Given the description of an element on the screen output the (x, y) to click on. 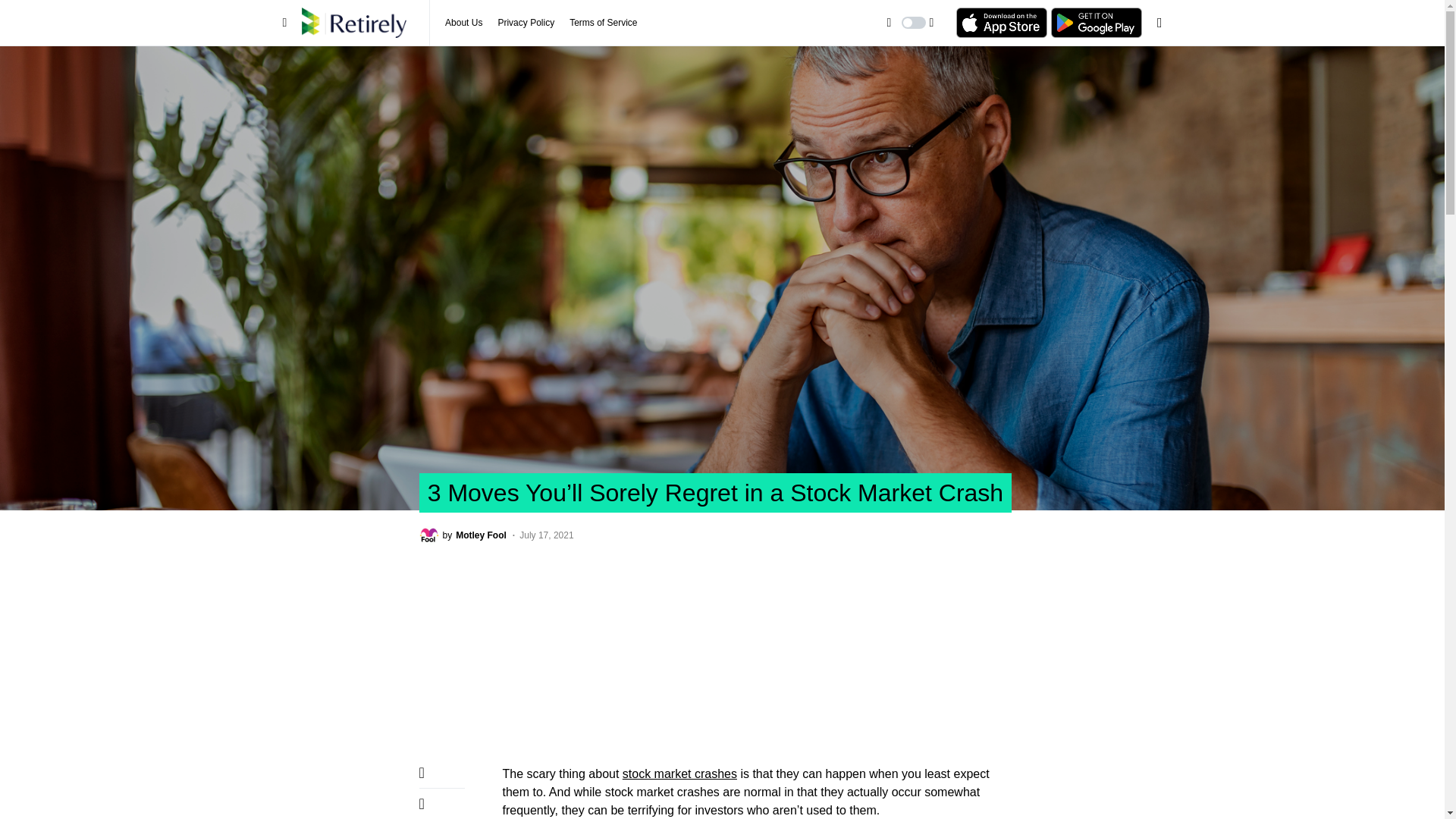
Privacy Policy (525, 22)
stock market crashes (679, 773)
View all posts by Motley Fool (462, 535)
Terms of Service (603, 22)
